Given the description of an element on the screen output the (x, y) to click on. 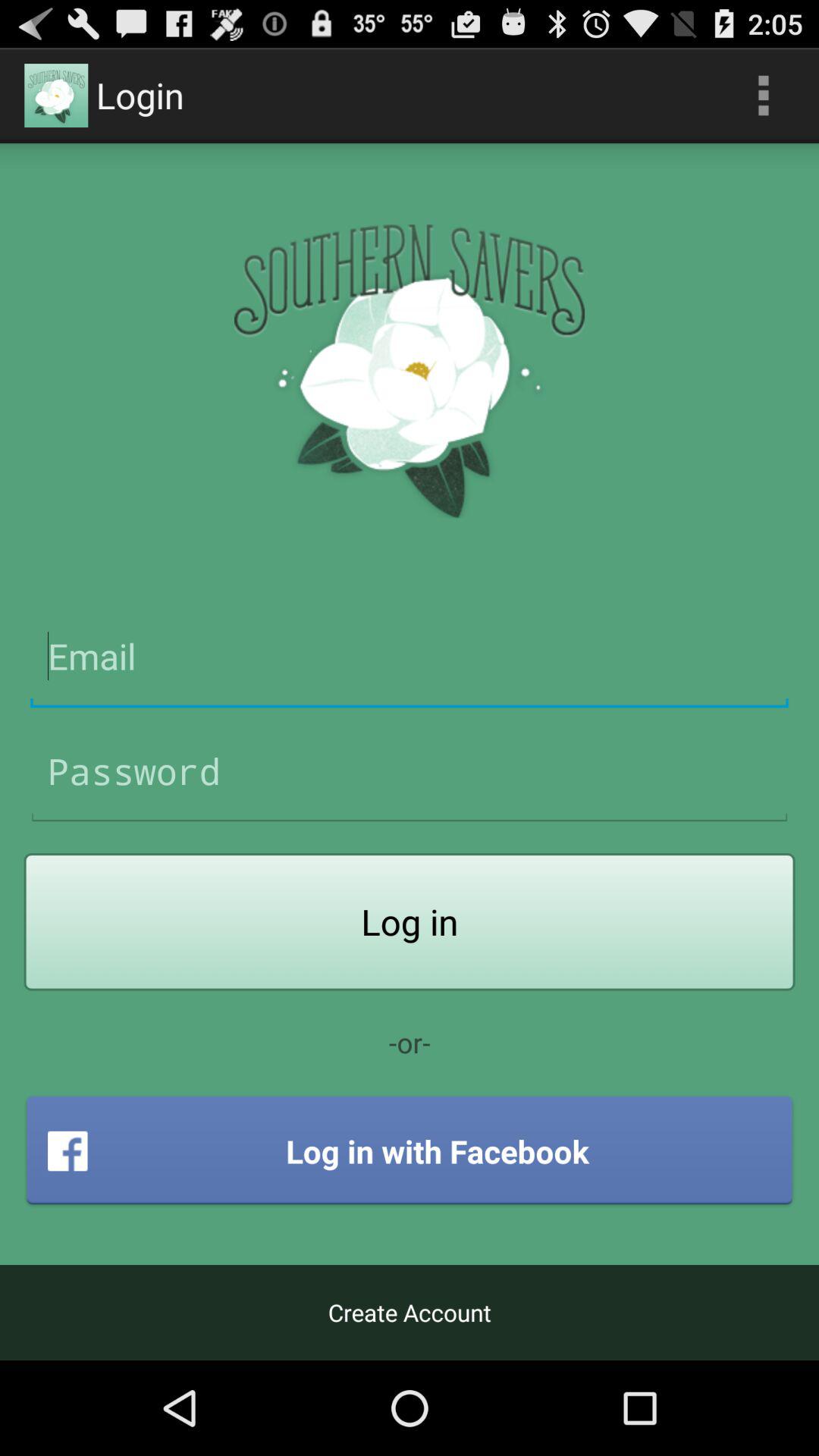
enter password (409, 771)
